Given the description of an element on the screen output the (x, y) to click on. 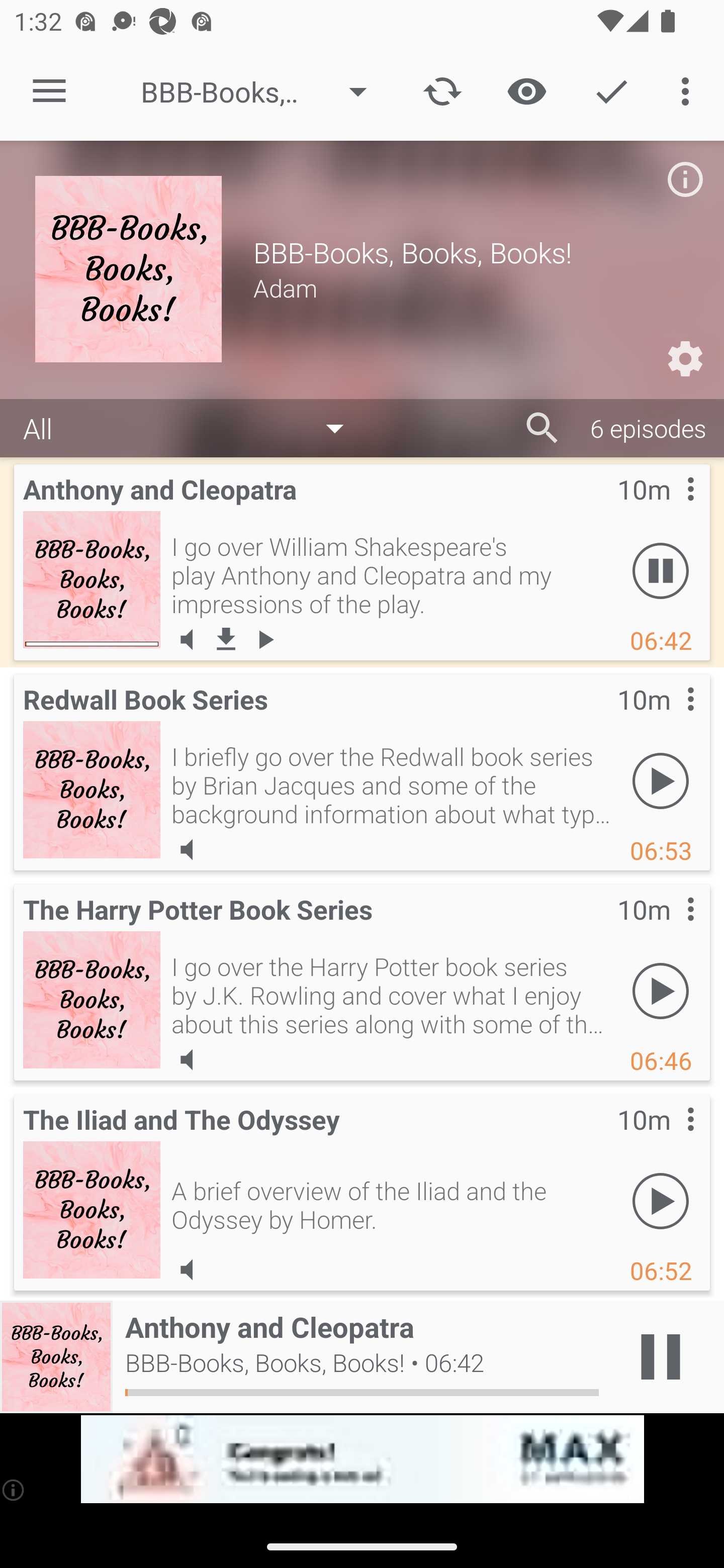
Open navigation sidebar (49, 91)
Update (442, 90)
Show / Hide played content (526, 90)
Action Mode (611, 90)
More options (688, 90)
BBB-Books, Books, Books! (263, 91)
Podcast description (685, 179)
Adam (470, 287)
Custom Settings (685, 358)
Search (542, 428)
All (192, 428)
Contextual menu (668, 508)
Anthony and Cleopatra (91, 579)
Pause (660, 571)
Contextual menu (668, 718)
Redwall Book Series (91, 789)
Play (660, 780)
Contextual menu (668, 928)
The Harry Potter Book Series (91, 999)
Play (660, 990)
Contextual menu (668, 1138)
The Iliad and The Odyssey (91, 1209)
Play (660, 1200)
Play / Pause (660, 1356)
app-monetization (362, 1459)
(i) (14, 1489)
